Given the description of an element on the screen output the (x, y) to click on. 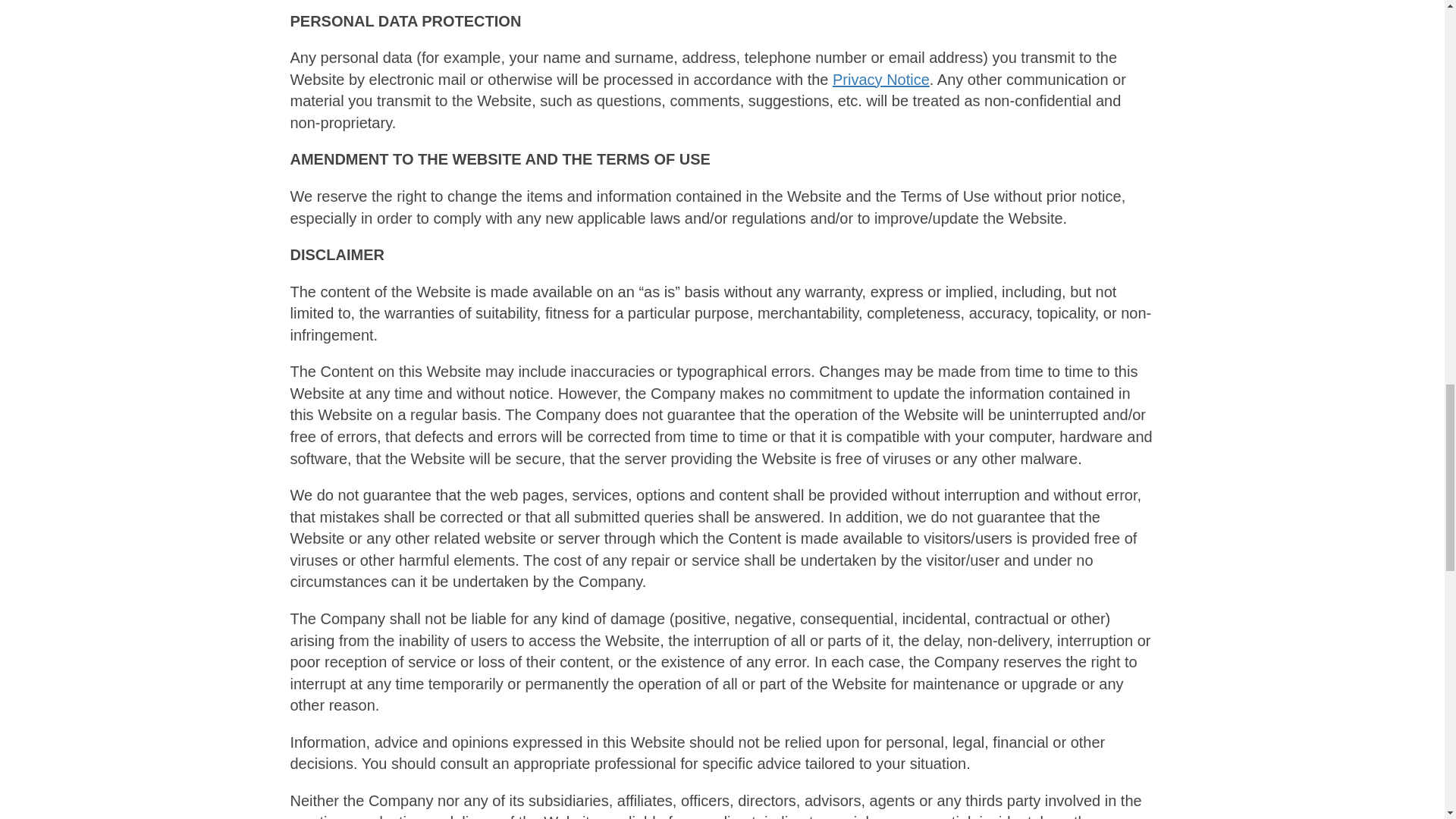
Privacy policy (881, 79)
